Given the description of an element on the screen output the (x, y) to click on. 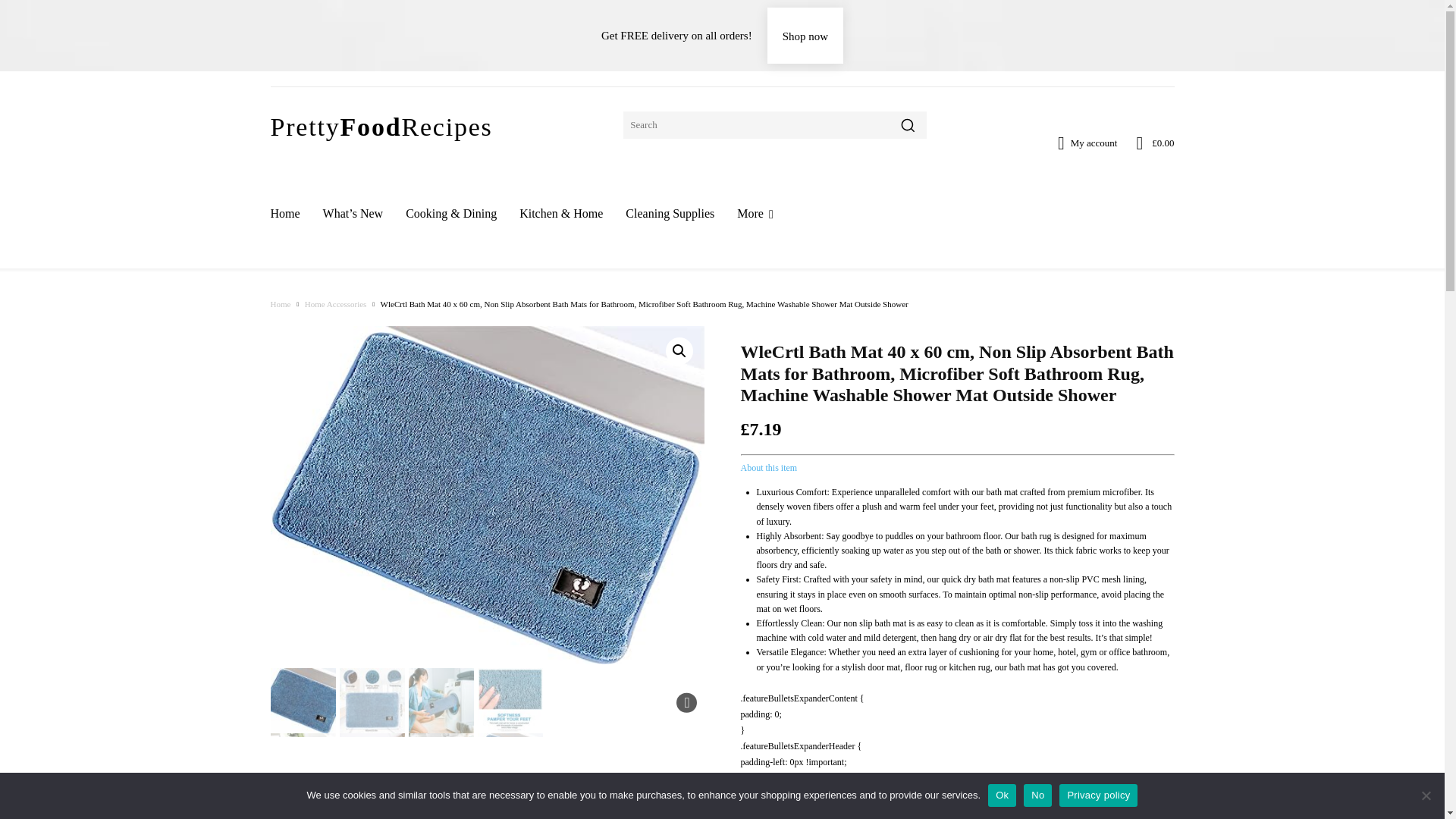
More (754, 213)
Shop now (805, 35)
Cleaning Supplies (670, 213)
Shop now (805, 35)
PrettyFoodRecipes (380, 124)
